Given the description of an element on the screen output the (x, y) to click on. 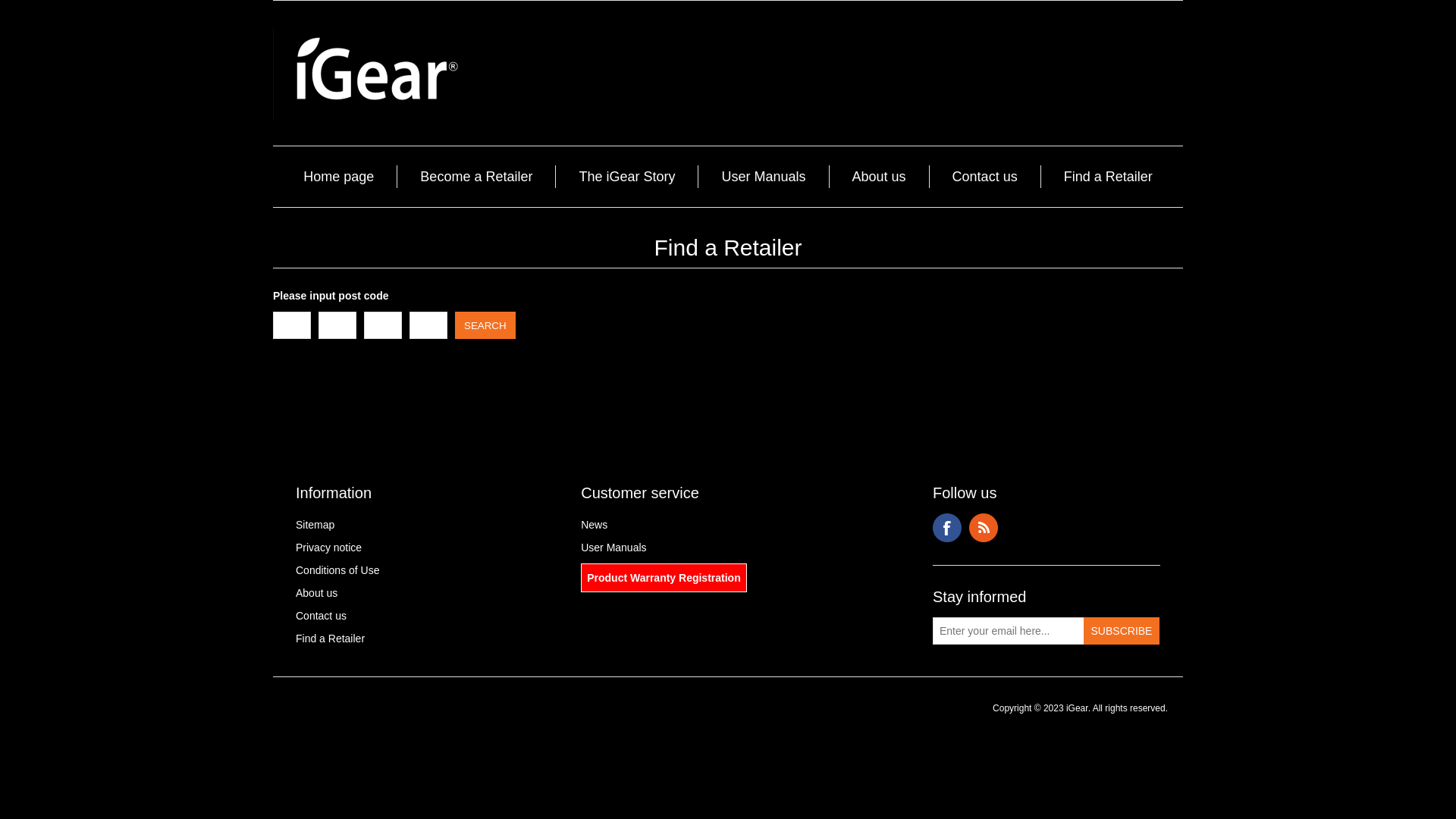
Privacy notice Element type: text (328, 547)
User Manuals Element type: text (613, 547)
Conditions of Use Element type: text (337, 570)
Facebook Element type: text (946, 527)
Contact us Element type: text (320, 615)
Become a Retailer Element type: text (475, 176)
News Element type: text (593, 524)
About us Element type: text (878, 176)
Sitemap Element type: text (314, 524)
Contact us Element type: text (984, 176)
The iGear Story Element type: text (626, 176)
User Manuals Element type: text (762, 176)
Find a Retailer Element type: text (1108, 176)
RSS Element type: text (983, 527)
SEARCH Element type: text (485, 324)
About us Element type: text (316, 592)
Product Warranty Registration Element type: text (663, 577)
Find a Retailer Element type: text (329, 638)
Home page Element type: text (338, 176)
